Given the description of an element on the screen output the (x, y) to click on. 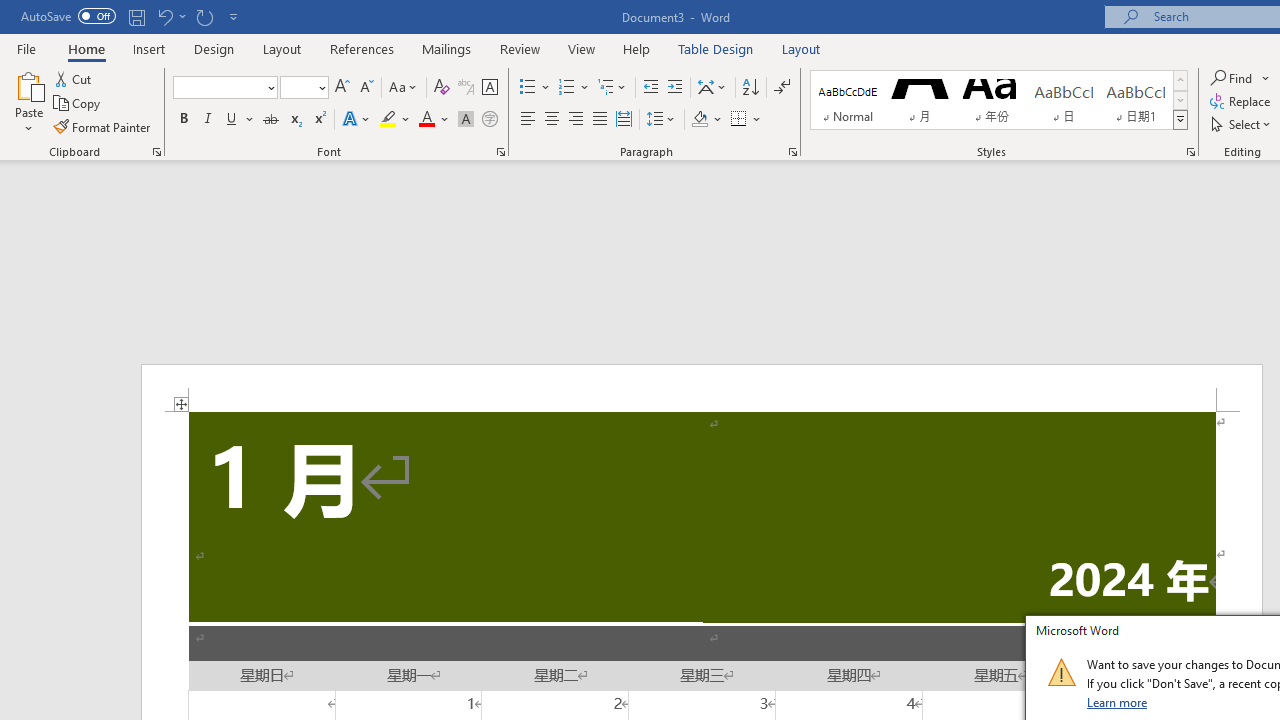
Shading RGB(0, 0, 0) (699, 119)
Grow Font (342, 87)
